Given the description of an element on the screen output the (x, y) to click on. 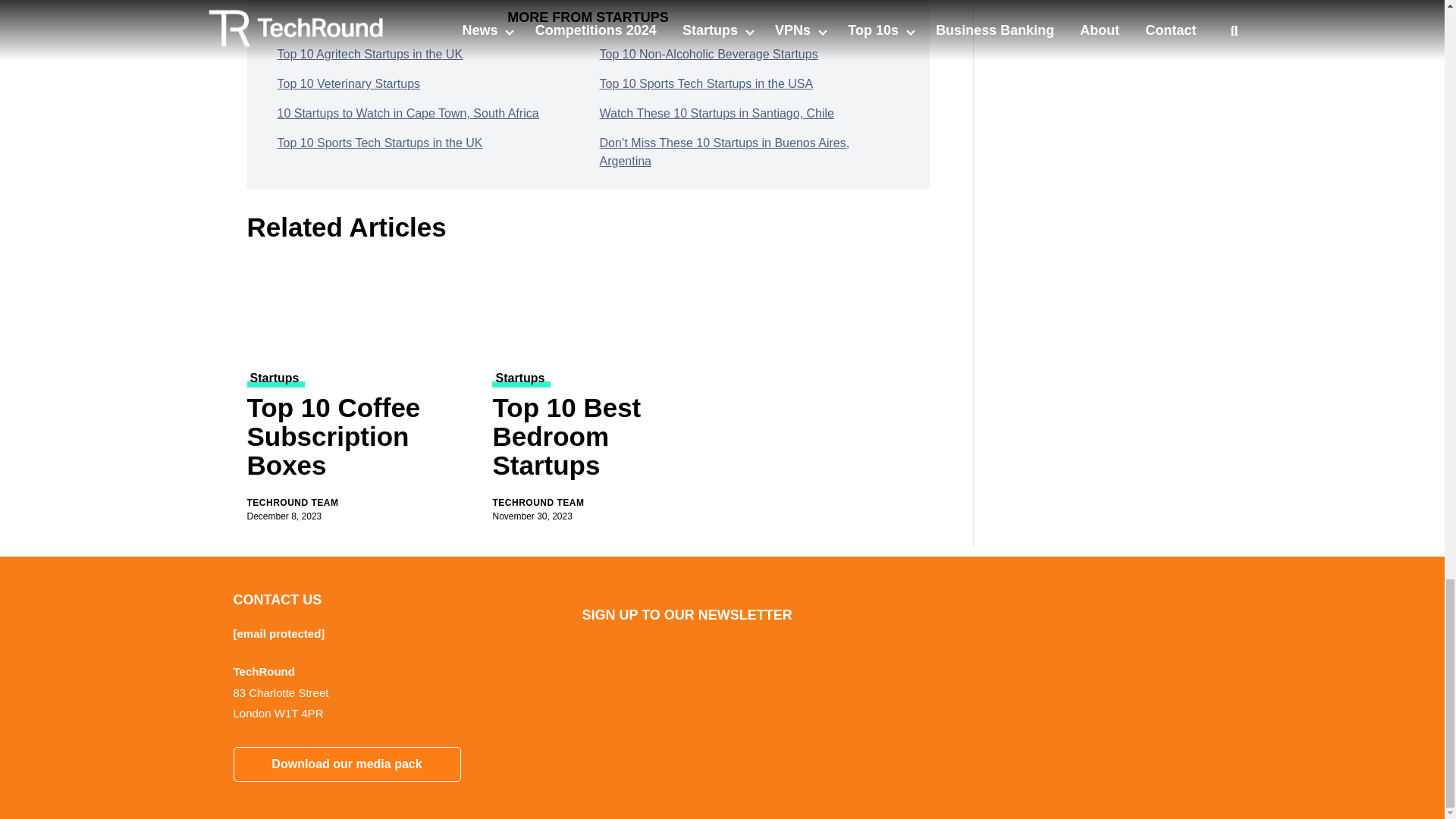
Top 10 Coffee Subscription Boxes (360, 439)
Top 10 Coffee Subscription Boxes (360, 308)
